Given the description of an element on the screen output the (x, y) to click on. 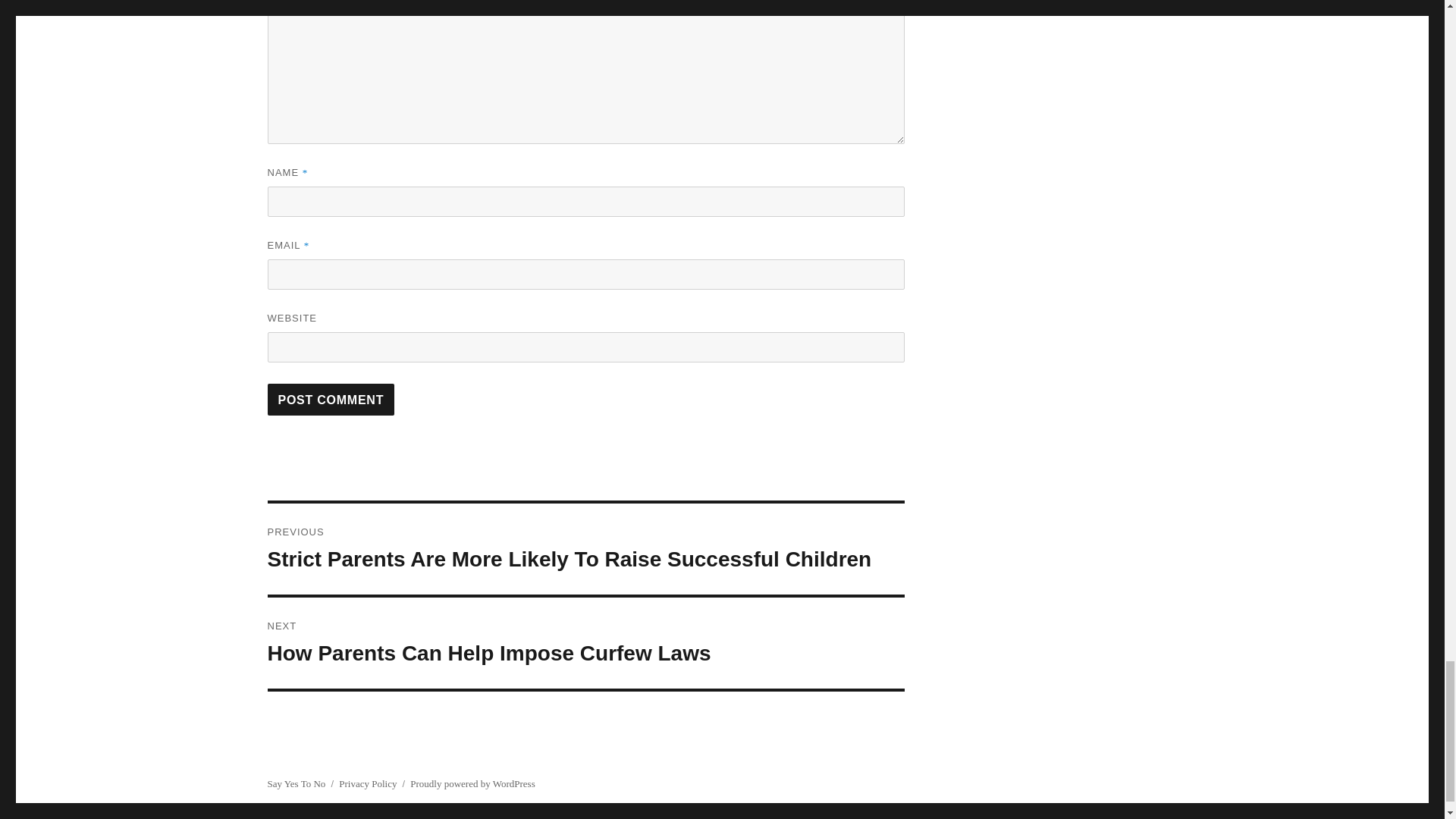
Post Comment (330, 399)
Post Comment (585, 642)
